Given the description of an element on the screen output the (x, y) to click on. 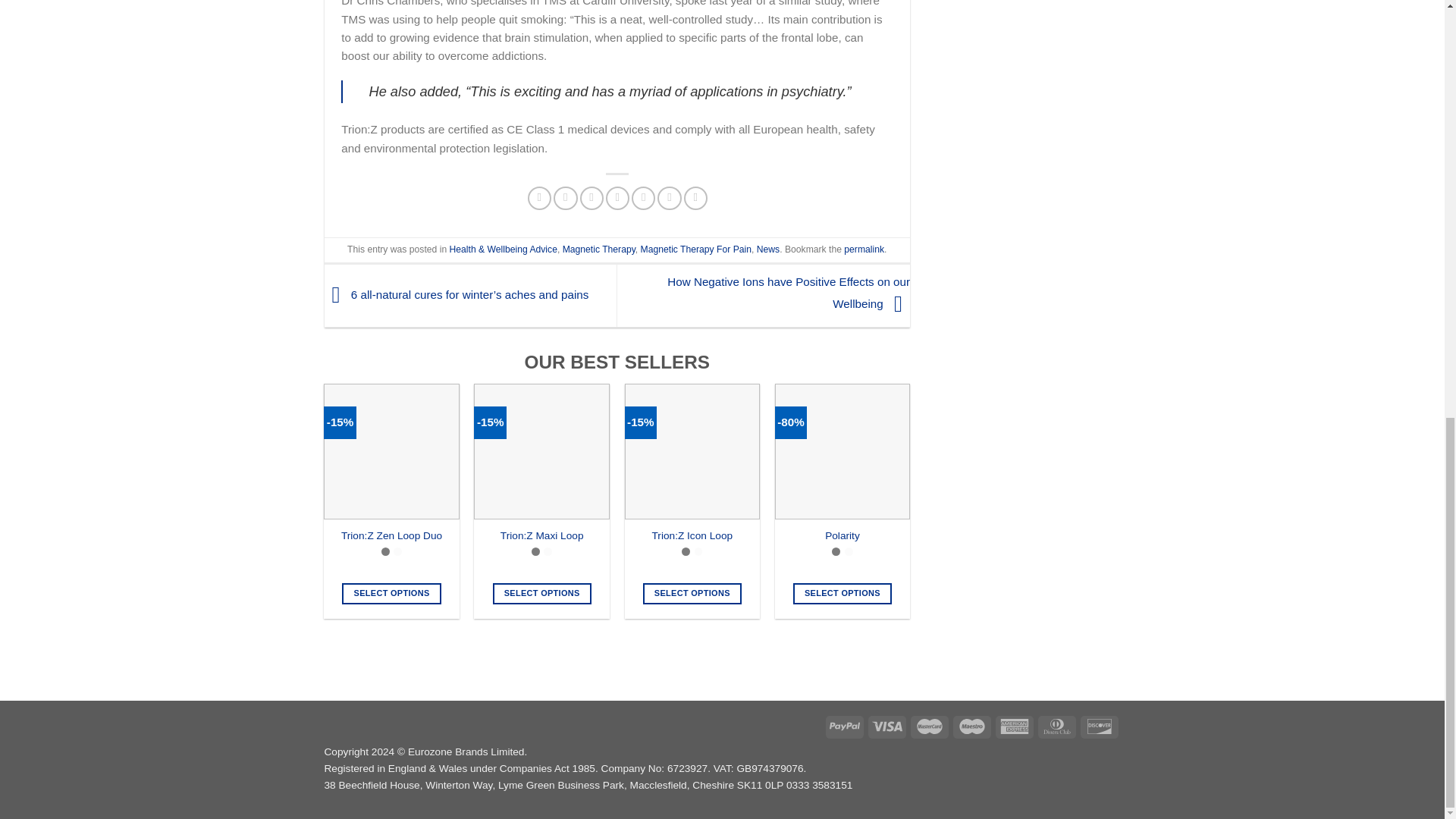
Share on Twitter (564, 197)
Share on Tumblr (695, 197)
Permalink to Magnetic Therapy in Medical studies (863, 249)
Share on VKontakte (643, 197)
Pin on Pinterest (616, 197)
Share on LinkedIn (669, 197)
Share on Facebook (539, 197)
Email to a Friend (590, 197)
